Given the description of an element on the screen output the (x, y) to click on. 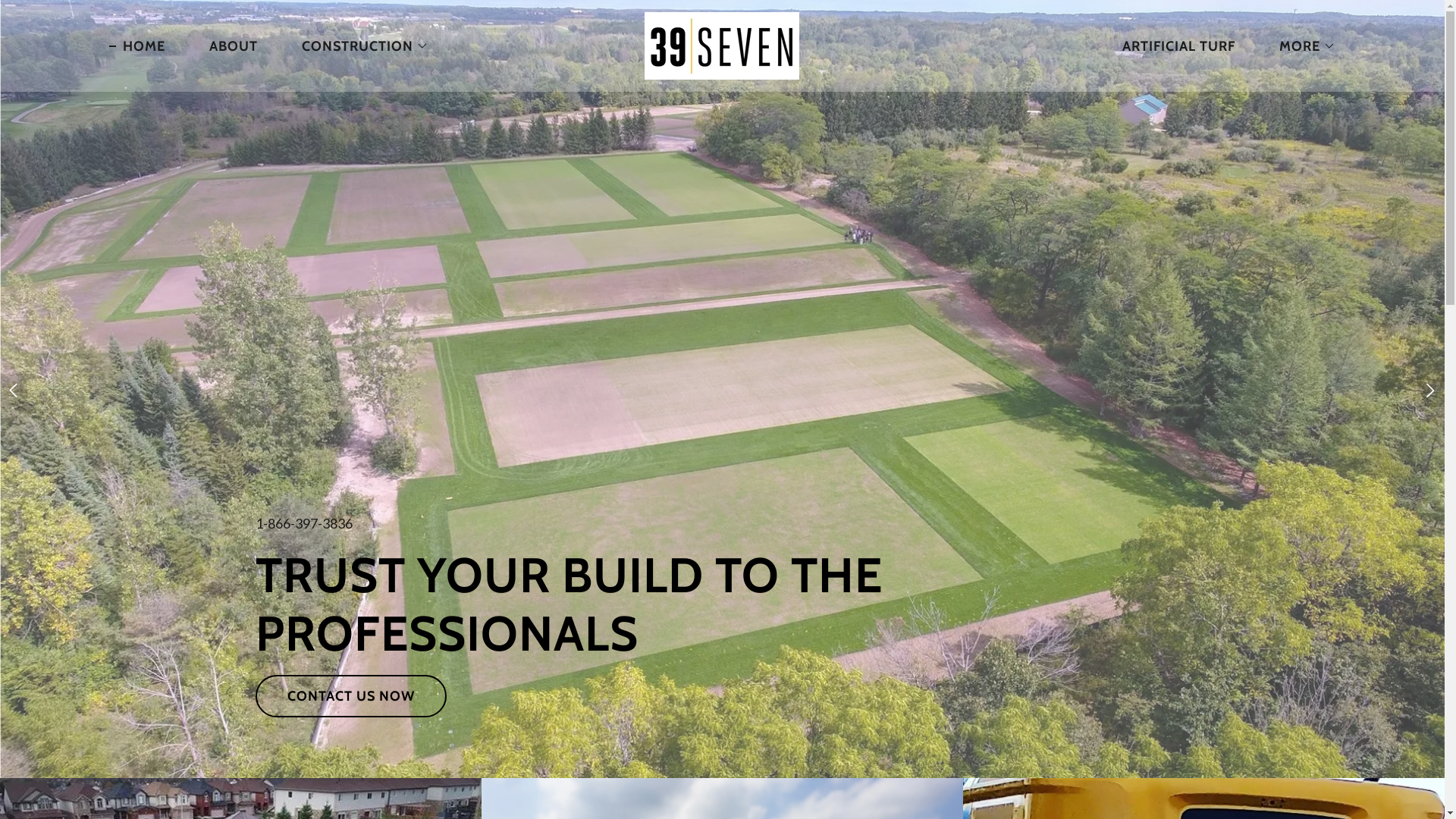
CONSTRUCTION Element type: text (358, 45)
MORE Element type: text (1300, 45)
1-866-397-3836 Element type: text (302, 522)
CONTACT US NOW Element type: text (349, 695)
ABOUT Element type: text (226, 45)
39 Seven Inc. Element type: hover (721, 43)
ARTIFICIAL TURF Element type: text (1171, 45)
HOME Element type: text (137, 45)
